Given the description of an element on the screen output the (x, y) to click on. 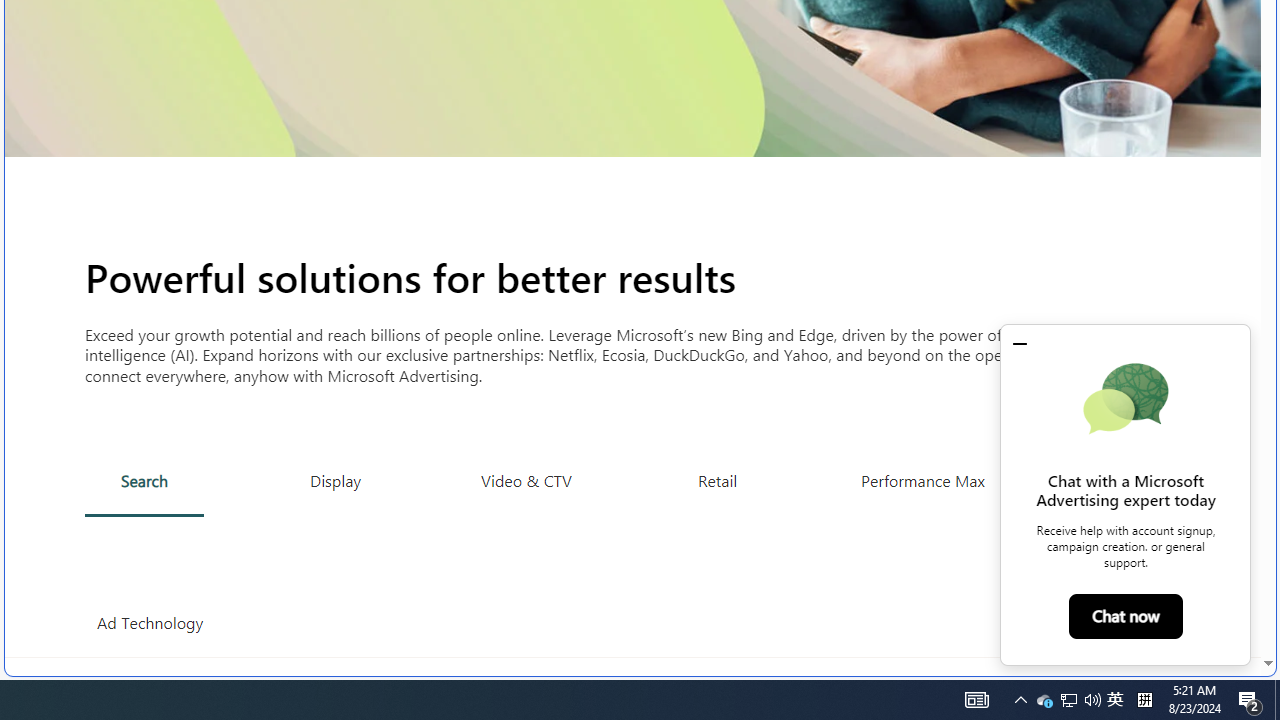
Ad Technology (150, 623)
Retail (716, 480)
close (1020, 343)
Chat now (1125, 616)
Display (335, 480)
Performance Max (922, 480)
Video & CTV (526, 480)
